Given the description of an element on the screen output the (x, y) to click on. 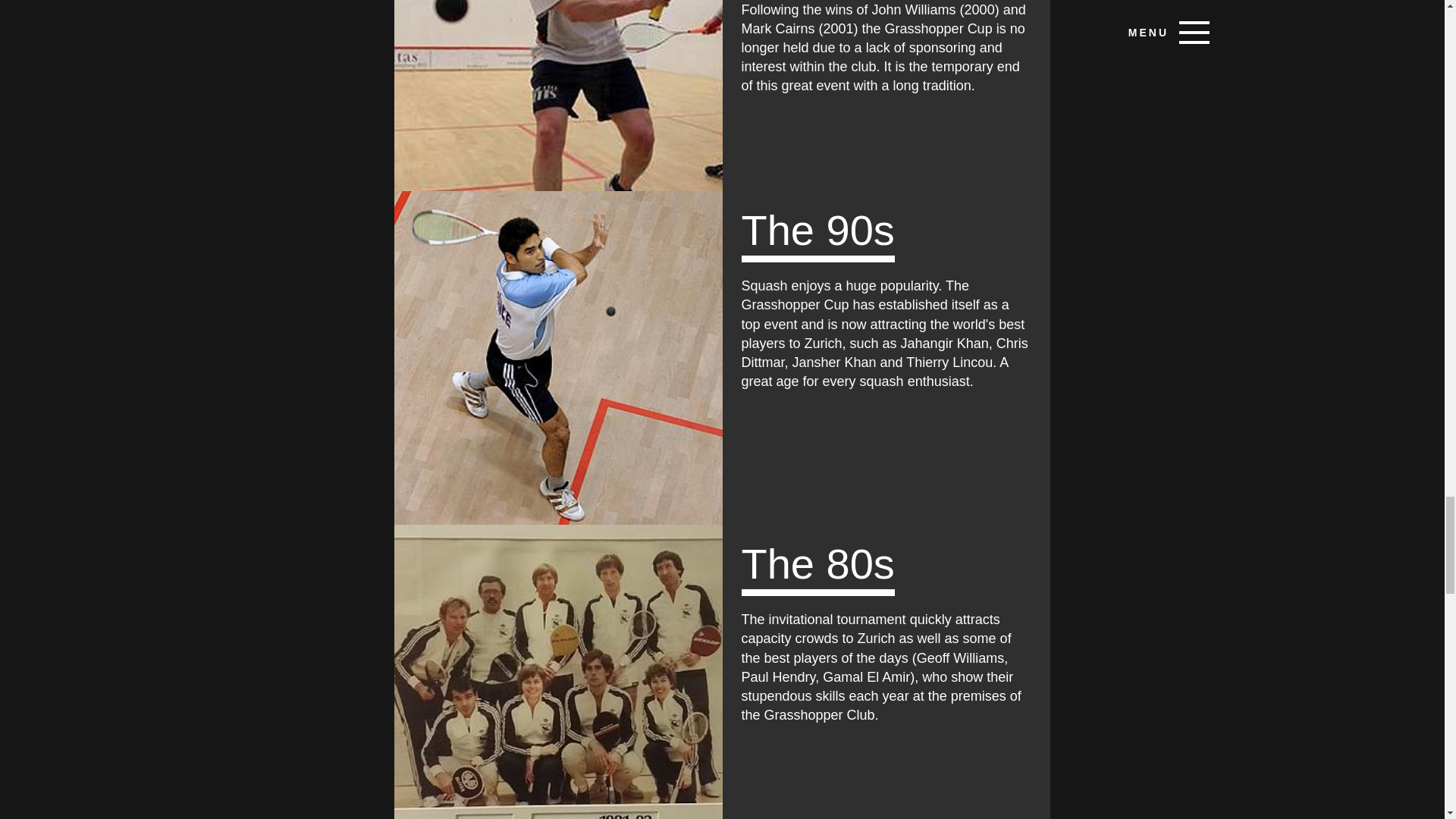
The 80s (558, 671)
2001 (558, 95)
The 90s (558, 357)
